Given the description of an element on the screen output the (x, y) to click on. 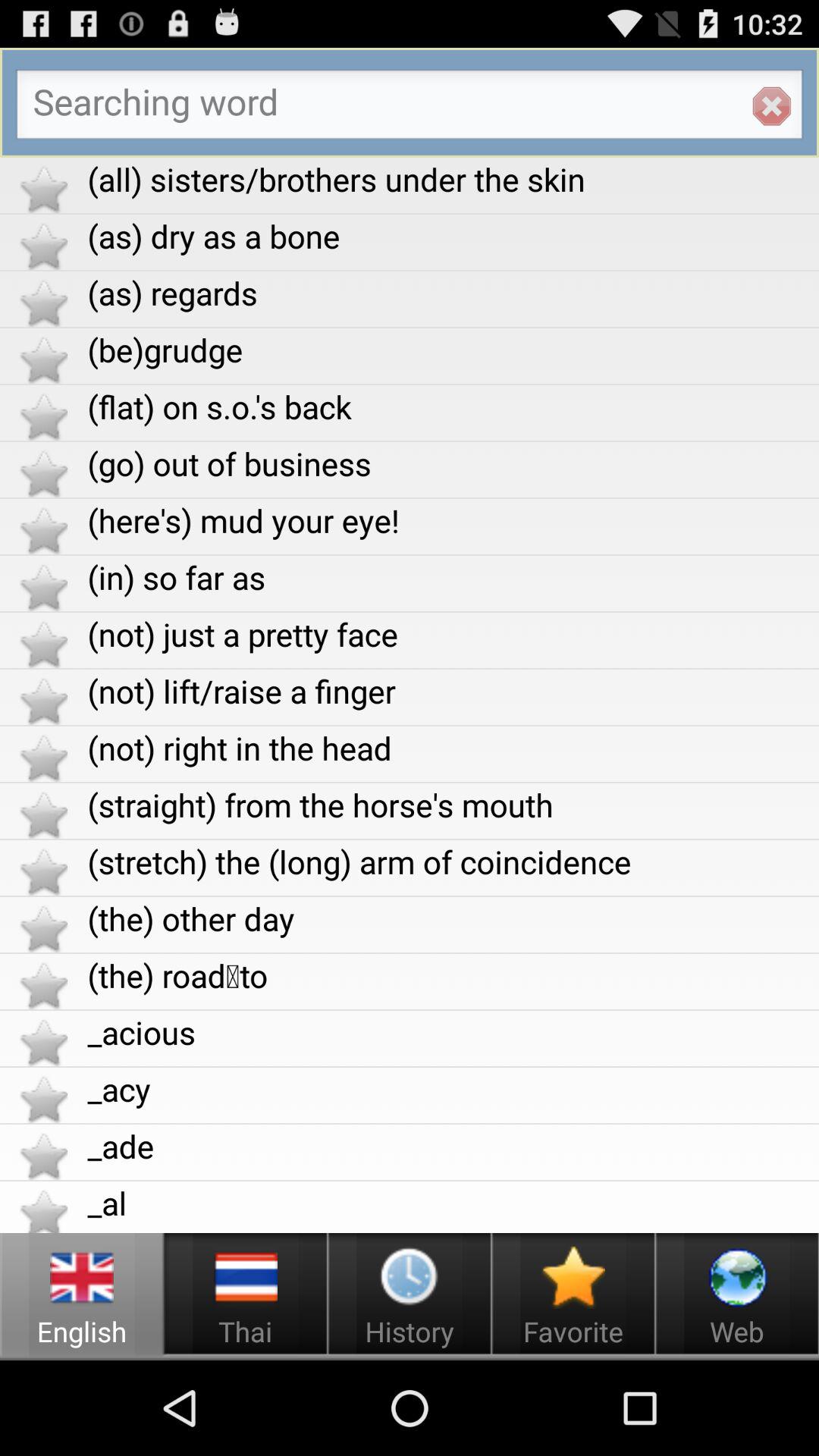
swipe until the go out of app (453, 463)
